Given the description of an element on the screen output the (x, y) to click on. 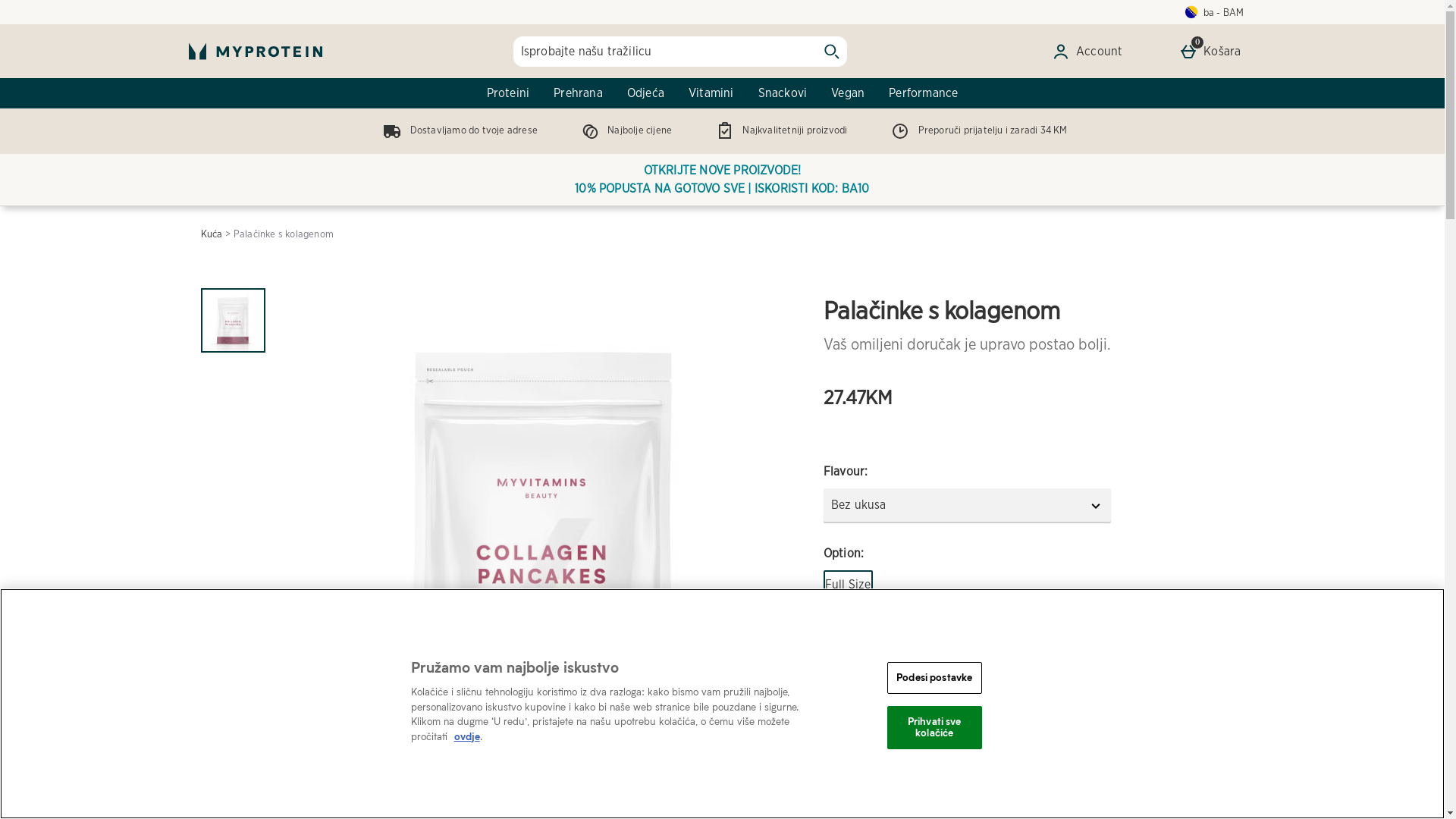
Vitamini Element type: text (711, 93)
Performance Element type: text (922, 93)
Dostavljamo do tvoje adrese Element type: text (456, 129)
Skip to main content Element type: text (55, 6)
Full Size Element type: text (847, 584)
Zoom Element type: hover (771, 769)
Proteini Element type: text (508, 93)
ovdje Element type: text (467, 736)
Start search Element type: hover (830, 51)
Increase quantity Element type: hover (907, 686)
Vegan Element type: text (847, 93)
Najbolje cijene Element type: text (623, 129)
Snackovi Element type: text (782, 93)
Najkvalitetniji proizvodi Element type: text (778, 129)
Prehrana Element type: text (578, 93)
Podesi postavke Element type: text (934, 677)
Decrease quantity Element type: hover (839, 686)
ba - BAM Element type: text (1214, 12)
Account Element type: text (1089, 51)
